Given the description of an element on the screen output the (x, y) to click on. 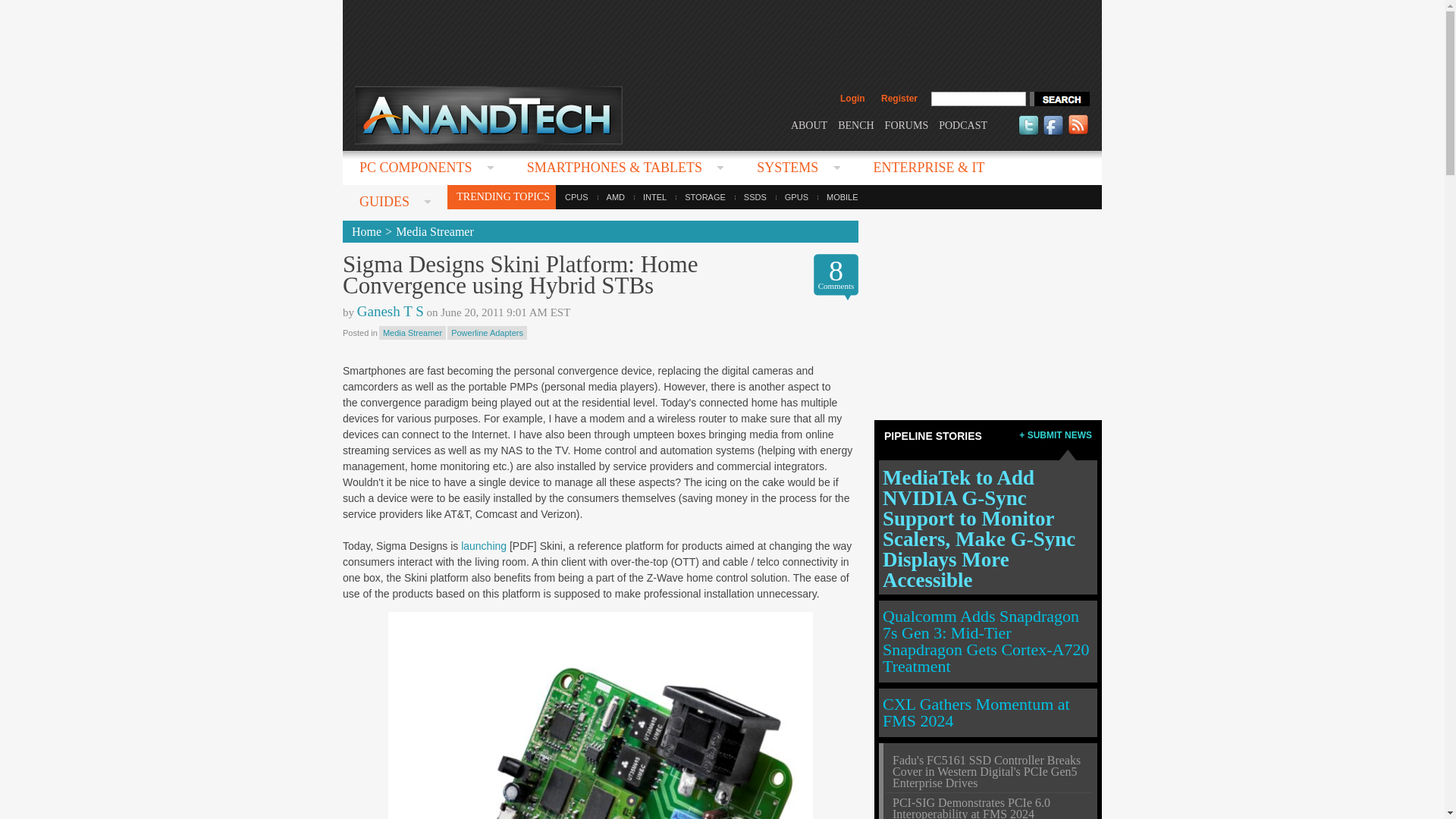
search (1059, 98)
search (1059, 98)
Register (898, 98)
search (1059, 98)
FORUMS (906, 125)
BENCH (855, 125)
Login (852, 98)
ABOUT (808, 125)
PODCAST (963, 125)
